Given the description of an element on the screen output the (x, y) to click on. 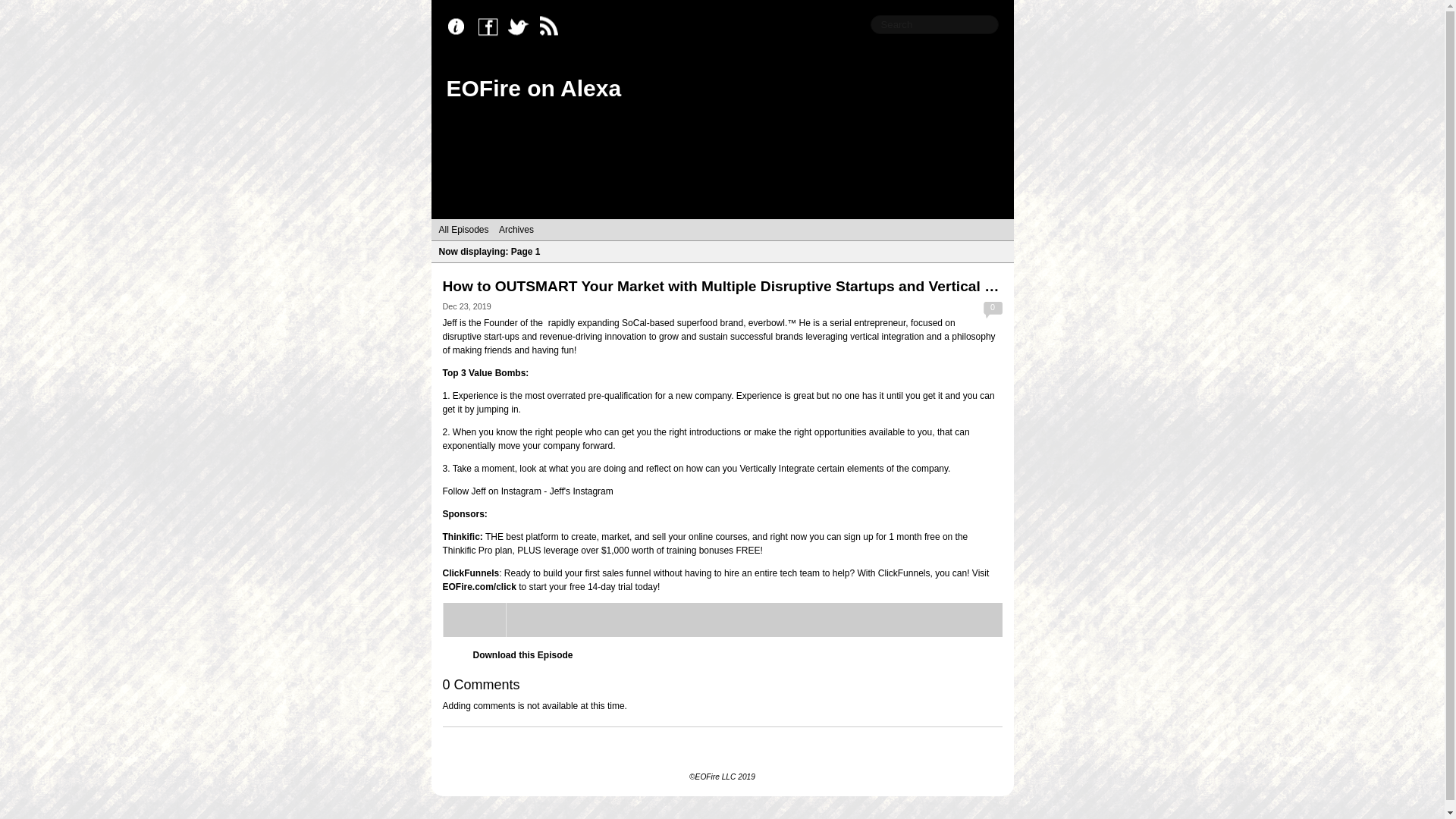
Twitter (521, 26)
Libsyn Player (722, 619)
EOFire on Alexa (533, 88)
RSS Feed (552, 26)
Facebook (491, 26)
